Given the description of an element on the screen output the (x, y) to click on. 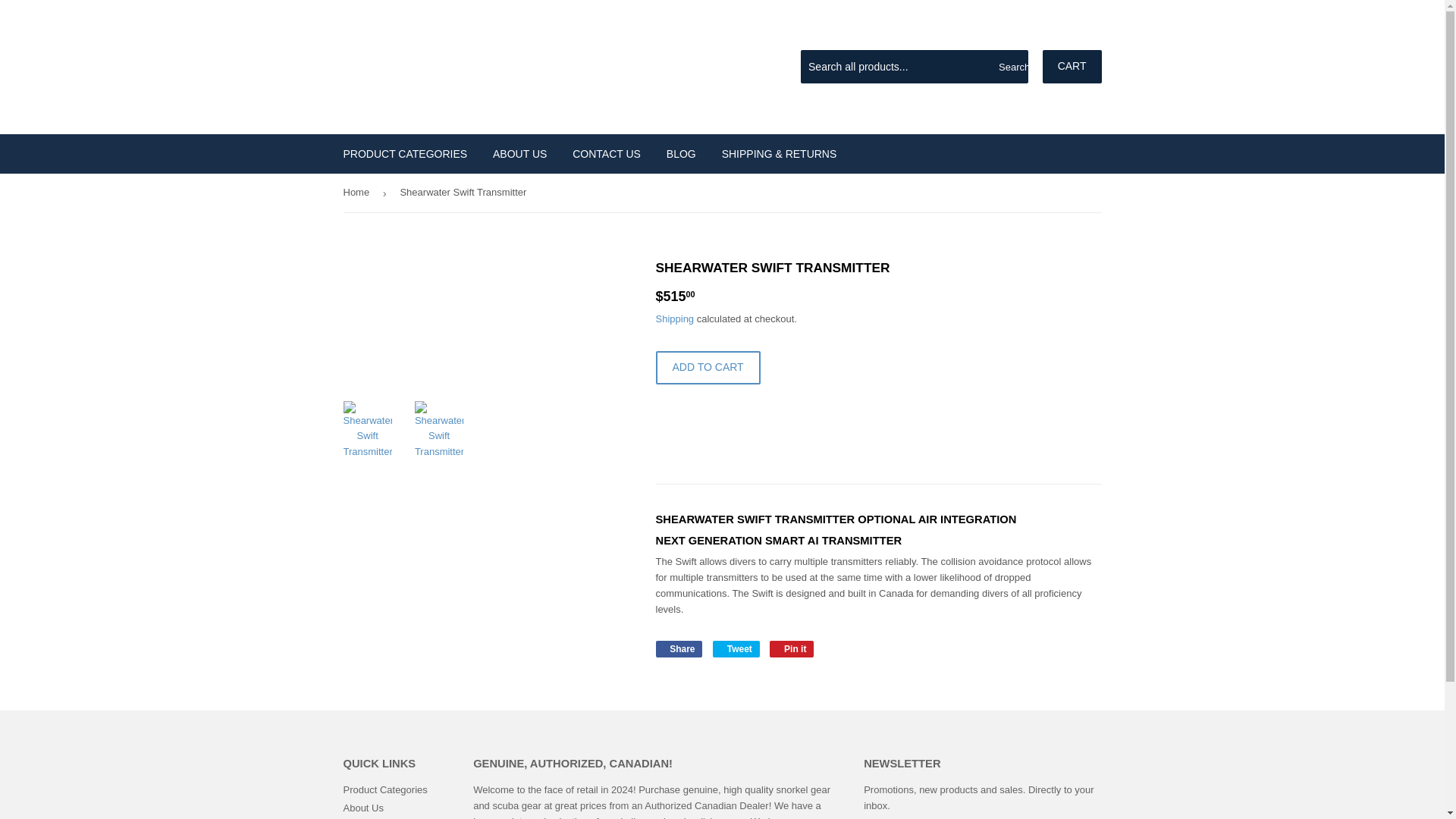
BLOG (678, 648)
PRODUCT CATEGORIES (681, 153)
ABOUT US (405, 153)
CONTACT US (519, 153)
Product Categories (606, 153)
Pin on Pinterest (791, 648)
Tweet on Twitter (384, 789)
Share on Facebook (791, 648)
